Given the description of an element on the screen output the (x, y) to click on. 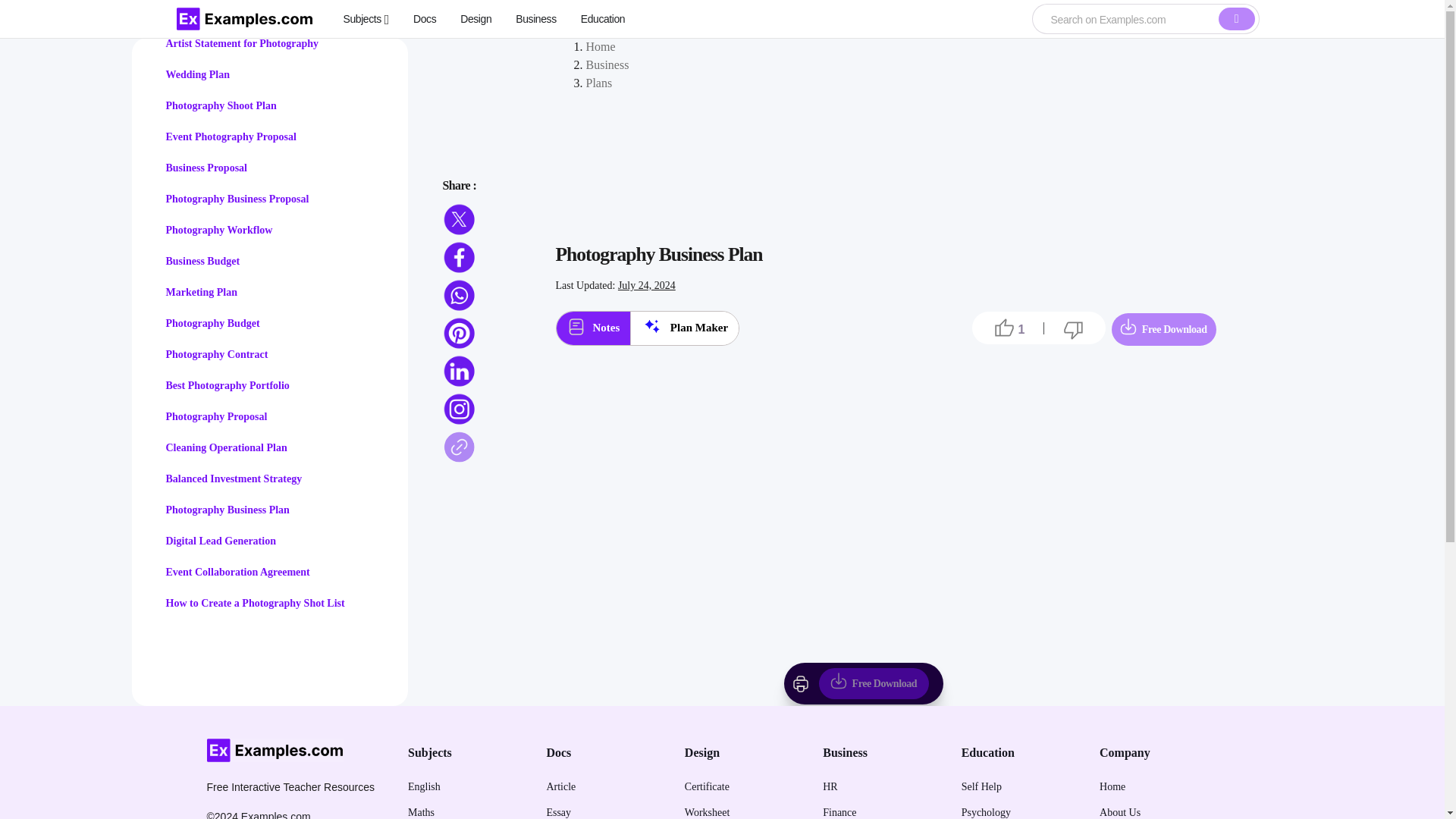
Photography Contract (216, 354)
Artist Statement for Photography (241, 43)
Photography Business Proposal (236, 198)
Docs (424, 18)
Best Photography Portfolio (226, 385)
Wedding Plan (196, 74)
Photography Proposal (215, 416)
Cleaning Operational Plan (225, 447)
dislike (1073, 329)
Business (535, 18)
